Given the description of an element on the screen output the (x, y) to click on. 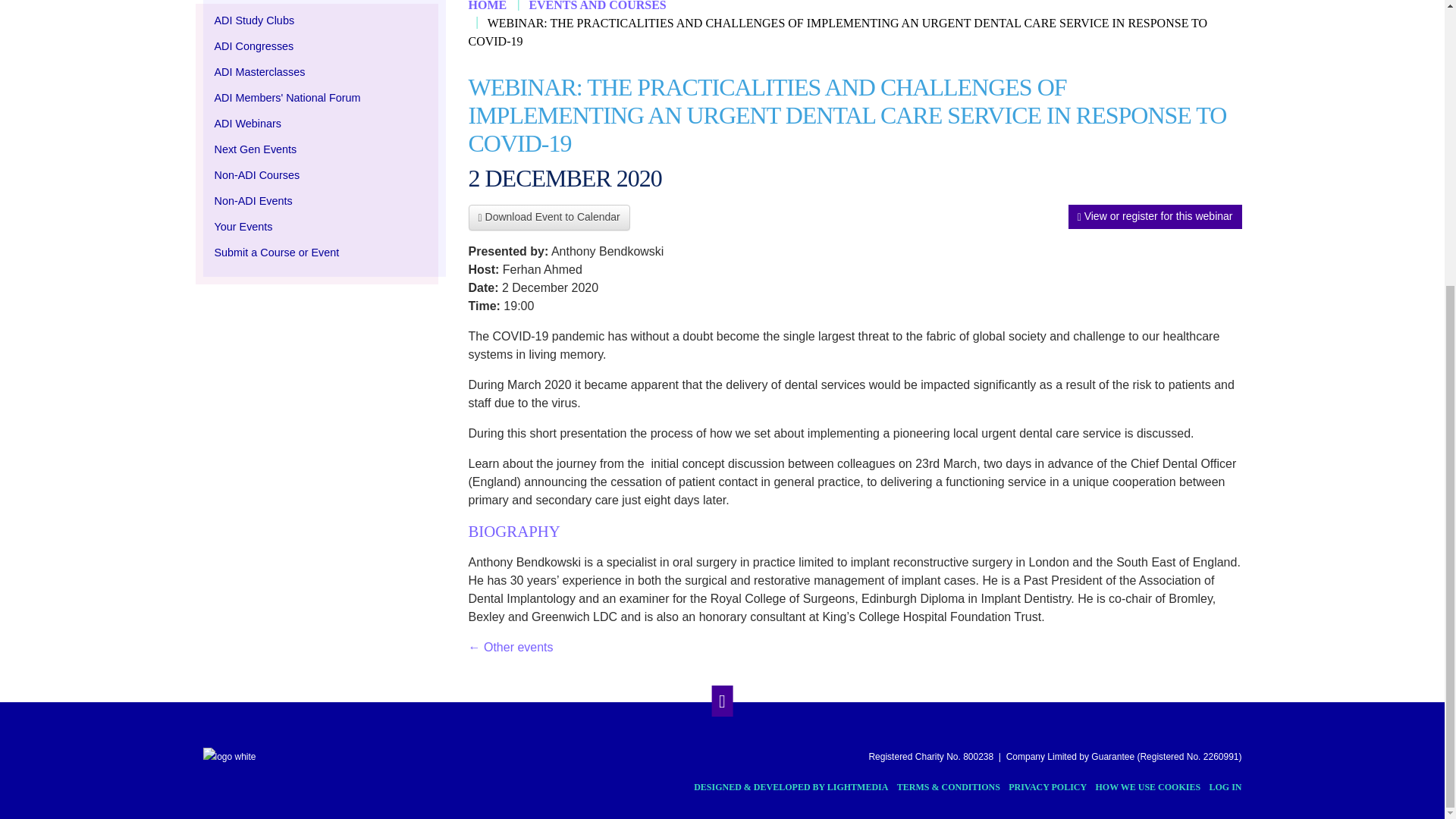
View or register for this webinar (1154, 216)
